Given the description of an element on the screen output the (x, y) to click on. 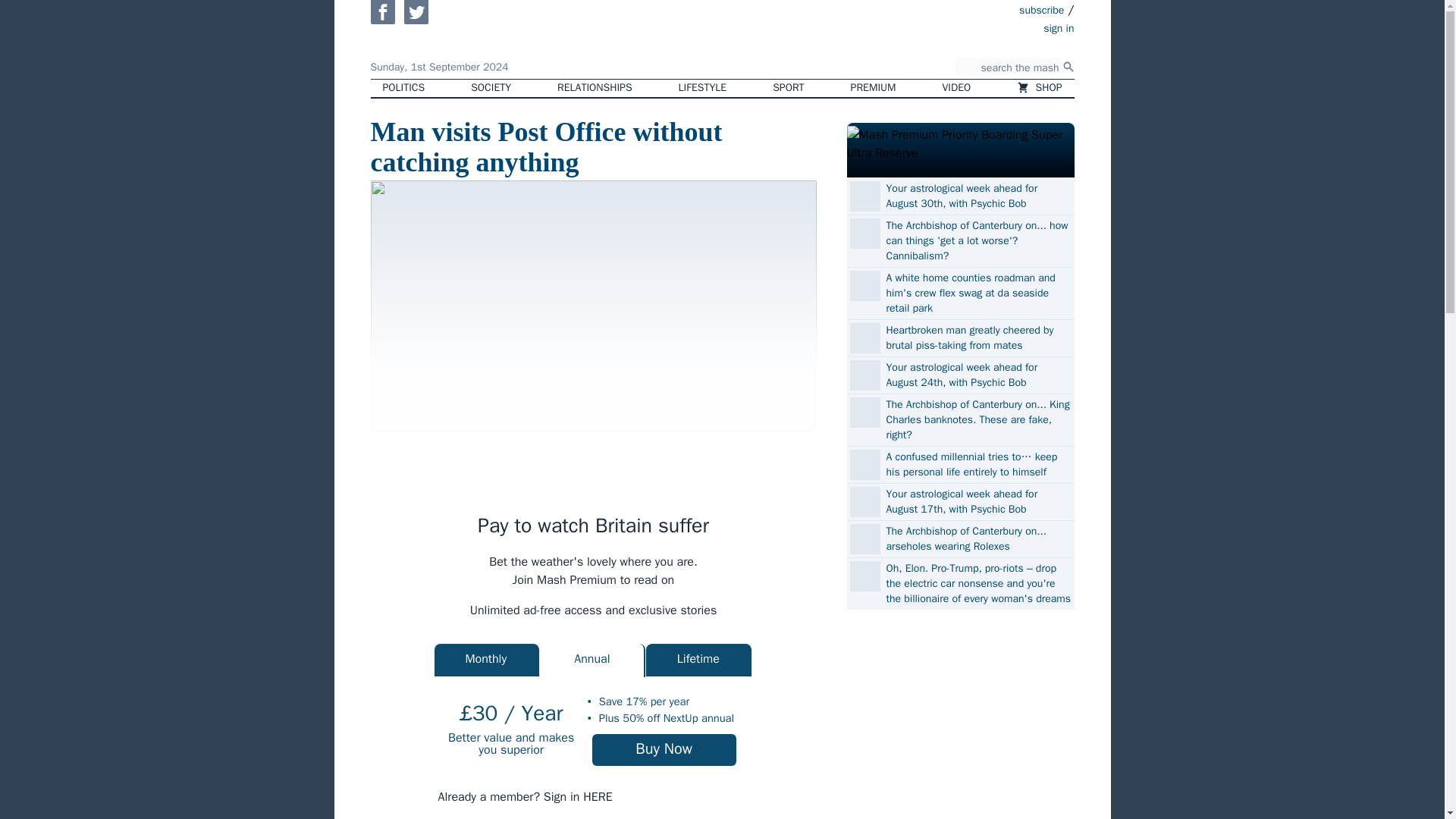
LIFESTYLE (702, 88)
PREMIUM (873, 88)
SOCIETY (490, 88)
SPORT (787, 88)
sign in (970, 27)
Buy Now (664, 749)
